Given the description of an element on the screen output the (x, y) to click on. 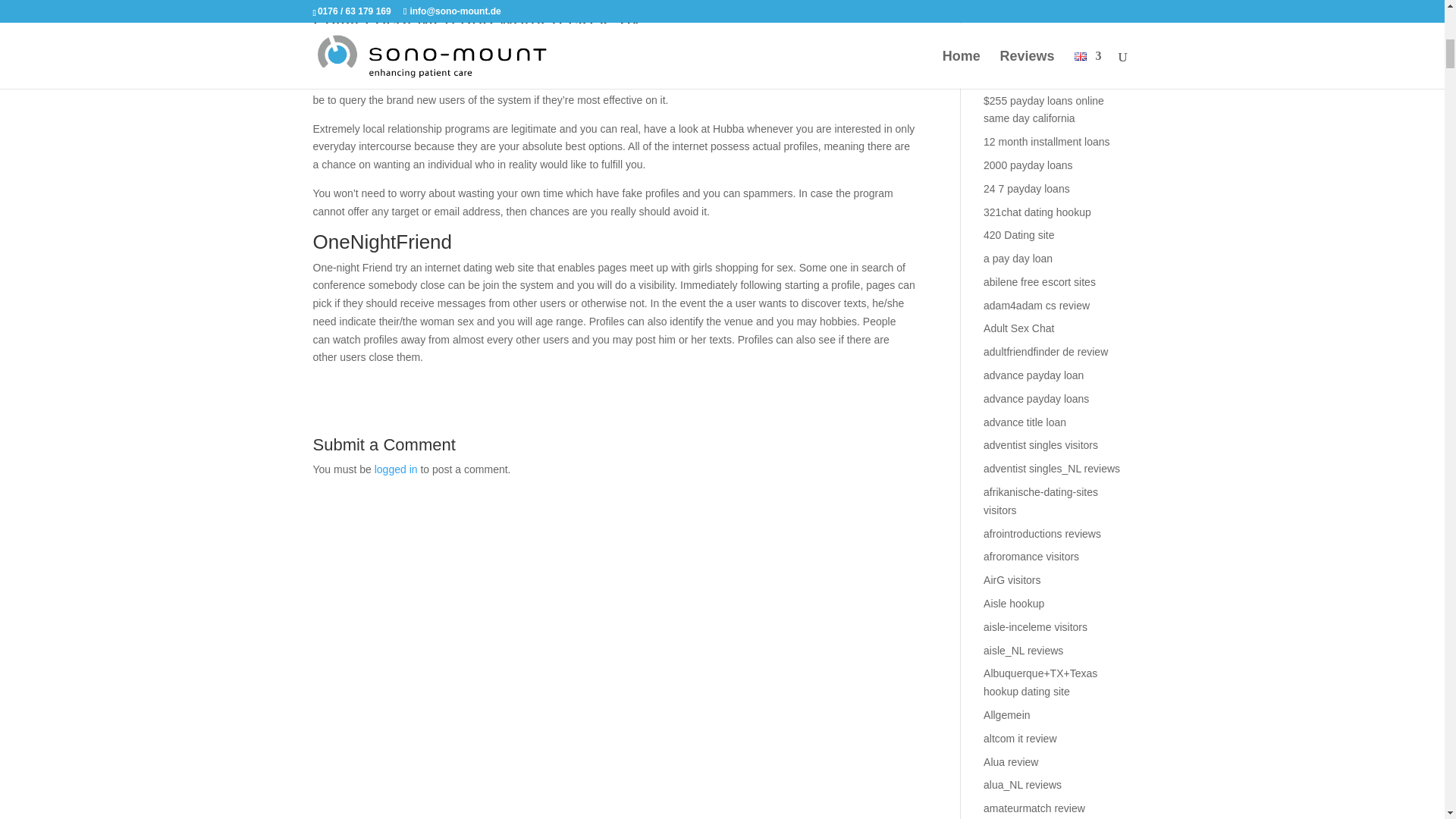
24 7 payday loans (1027, 188)
logged in (395, 469)
2000 payday loans (1028, 164)
12 month installment loans (1046, 141)
June 2018 (1008, 15)
